Given the description of an element on the screen output the (x, y) to click on. 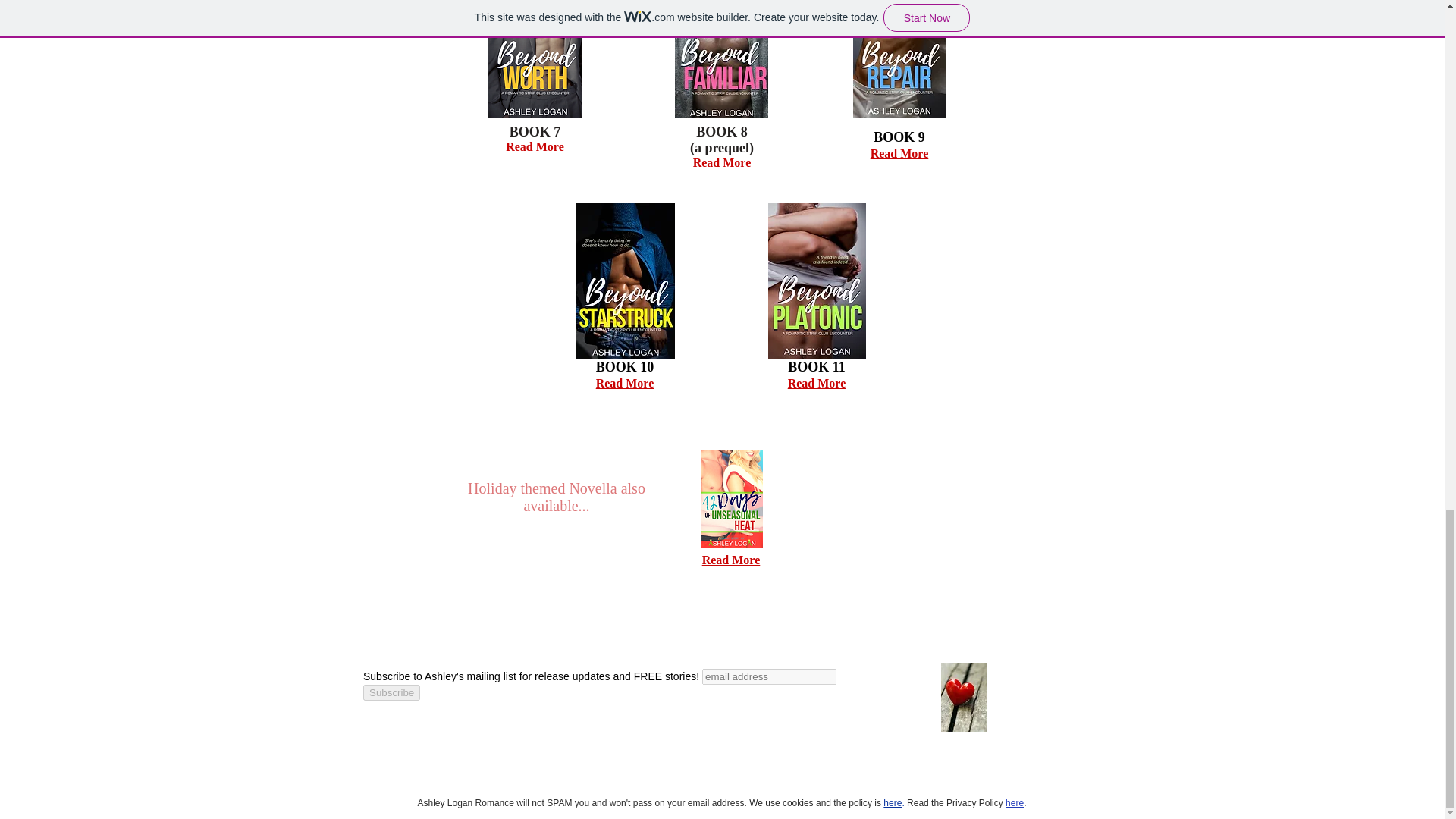
Read More (624, 382)
here (1014, 802)
here (892, 802)
Read More (899, 152)
Read More (816, 382)
Read More (730, 559)
Read More (722, 162)
Embedded Content (718, 697)
Read More (534, 146)
